Given the description of an element on the screen output the (x, y) to click on. 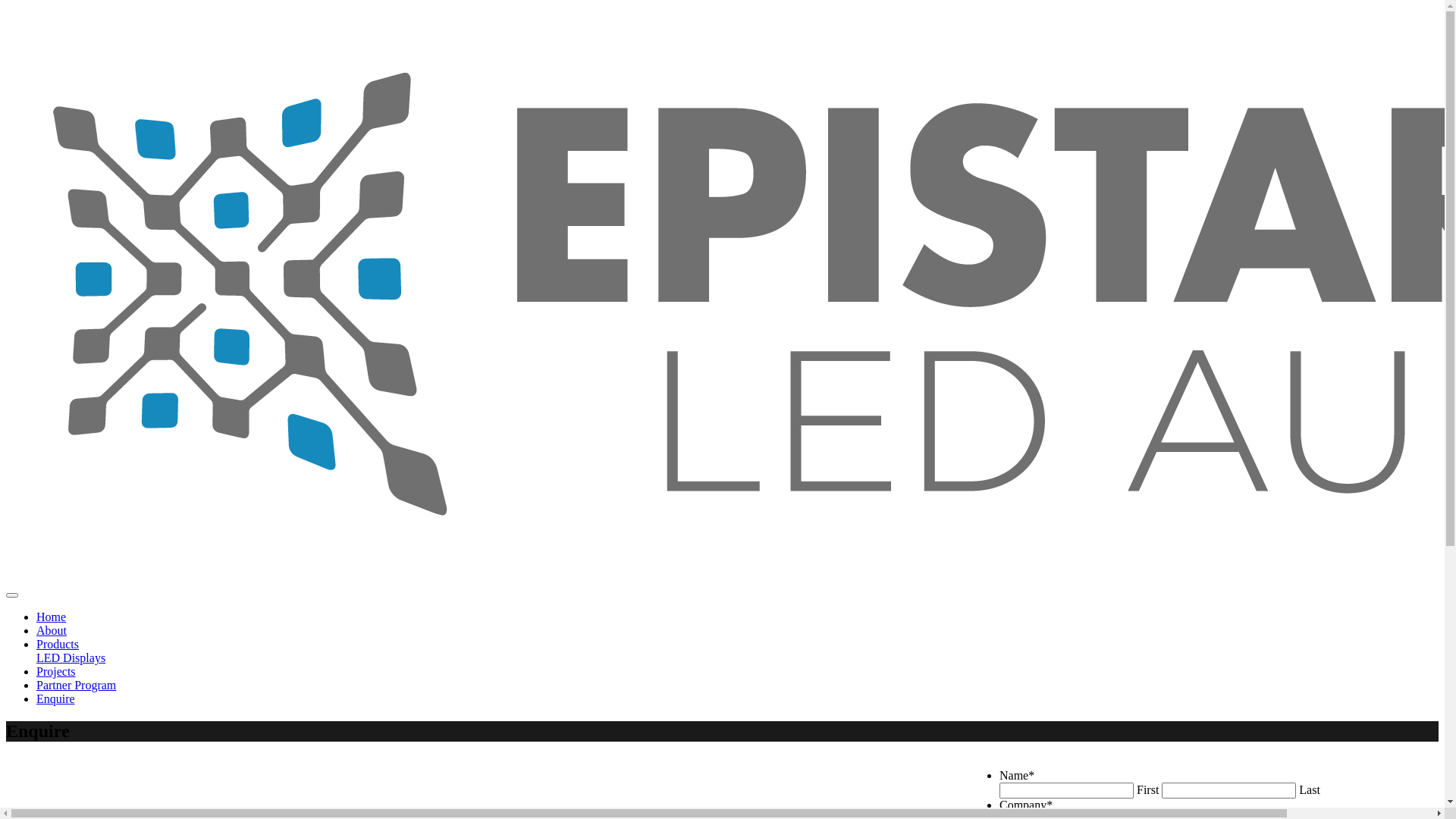
LED Displays Element type: text (70, 657)
Projects Element type: text (55, 671)
Enquire Element type: text (55, 698)
About Element type: text (51, 630)
Products Element type: text (57, 643)
Partner Program Element type: text (76, 684)
Home Element type: text (50, 616)
